Given the description of an element on the screen output the (x, y) to click on. 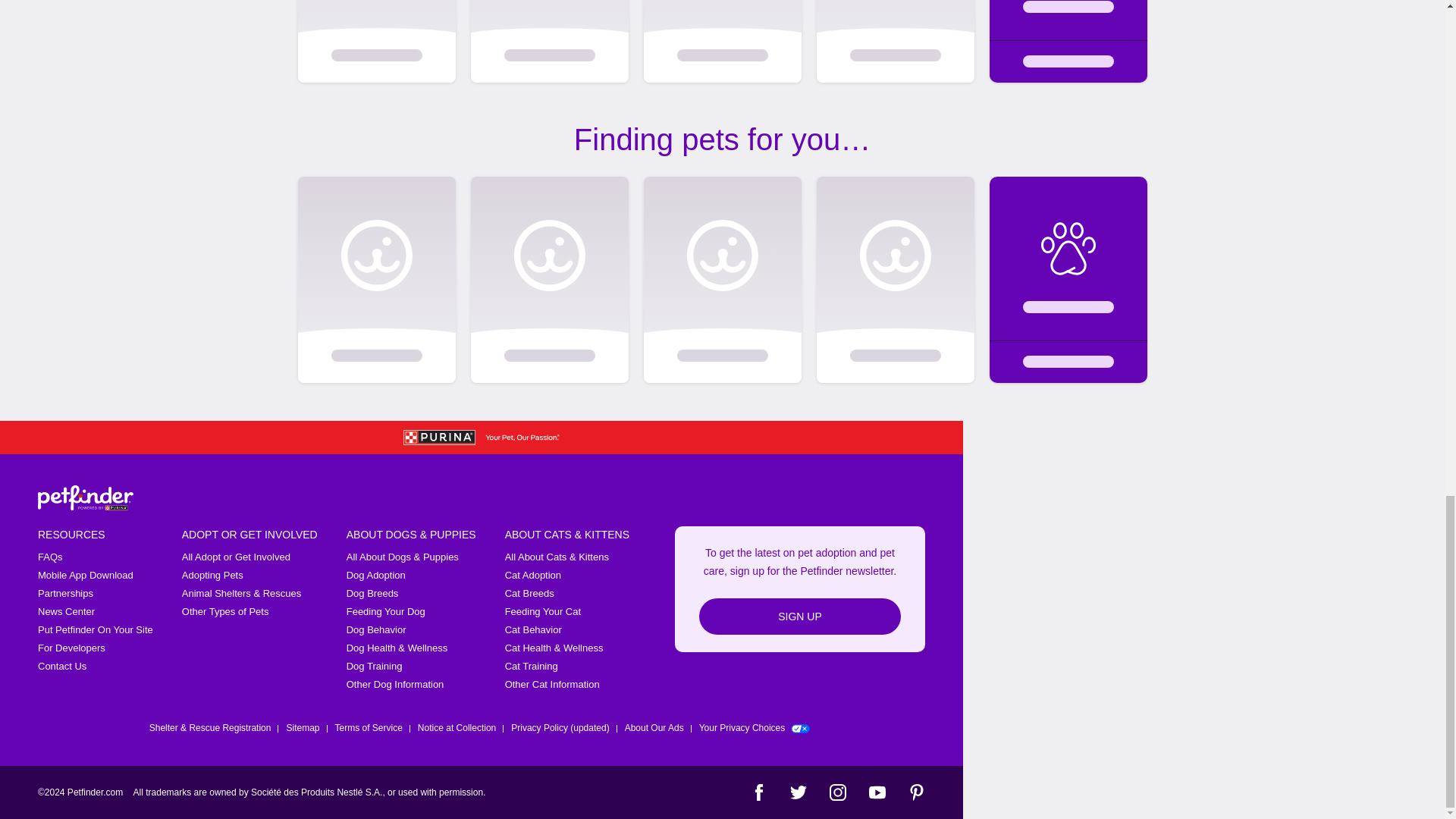
Pinterest (916, 791)
YouTube (877, 791)
Facebook (759, 791)
Twitter (798, 791)
Petfinder Logo (85, 497)
Instagram (837, 791)
